Given the description of an element on the screen output the (x, y) to click on. 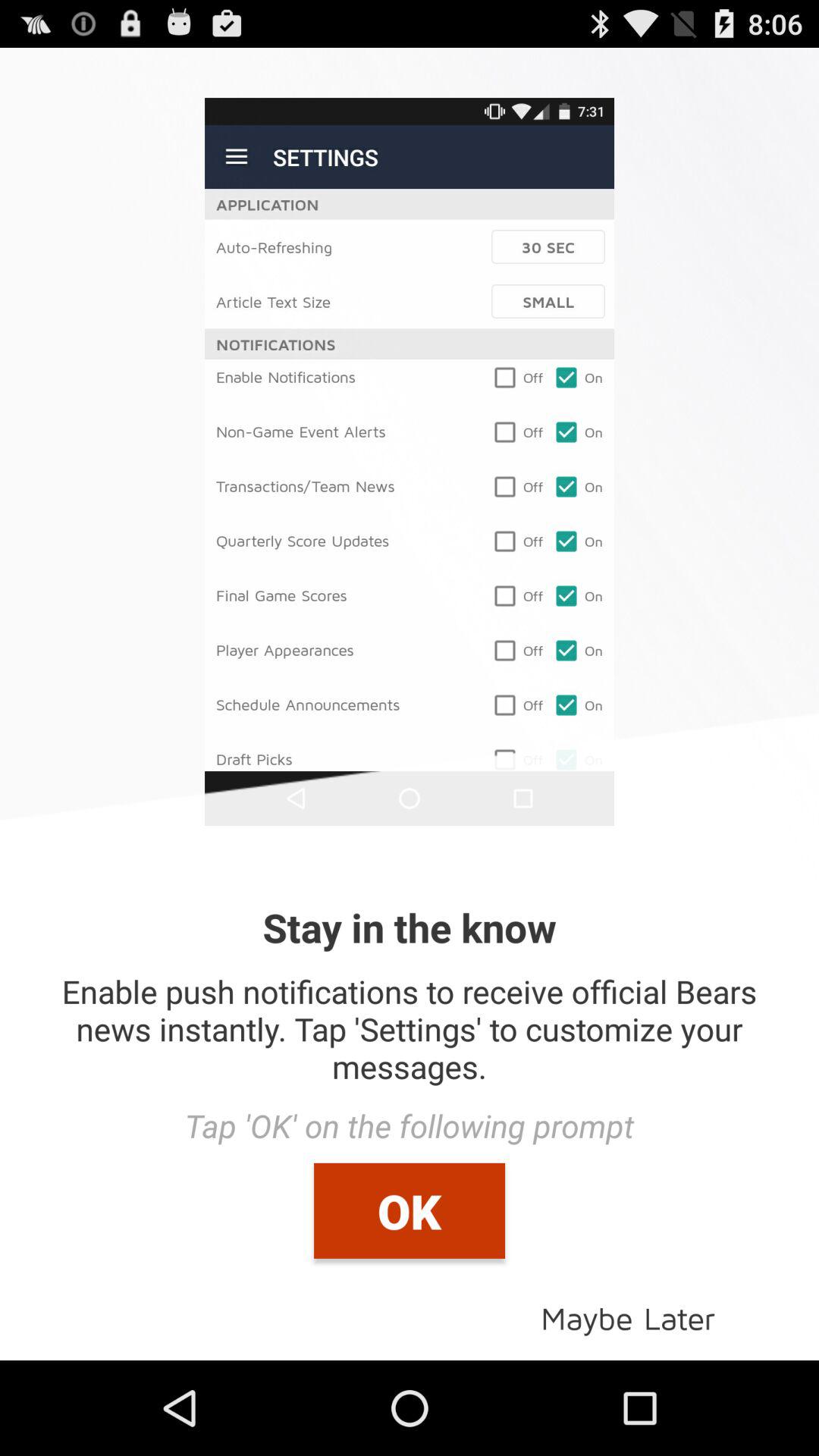
tap maybe later icon (627, 1317)
